Given the description of an element on the screen output the (x, y) to click on. 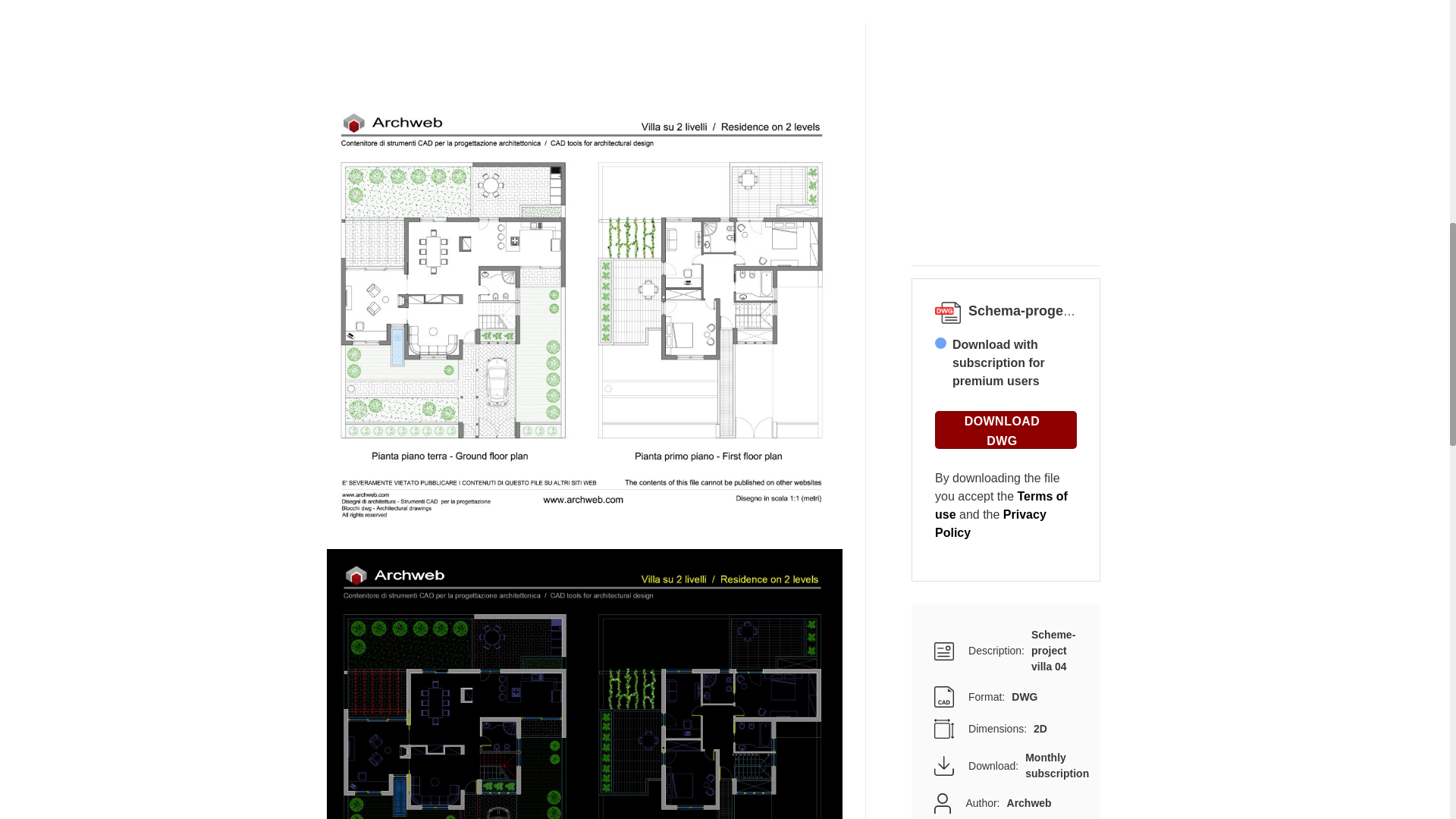
Facebook (940, 161)
Instagram (1072, 161)
Pinterest (1019, 161)
Whatsapp (1046, 161)
Twitter (966, 161)
Linkedin (993, 161)
